Given the description of an element on the screen output the (x, y) to click on. 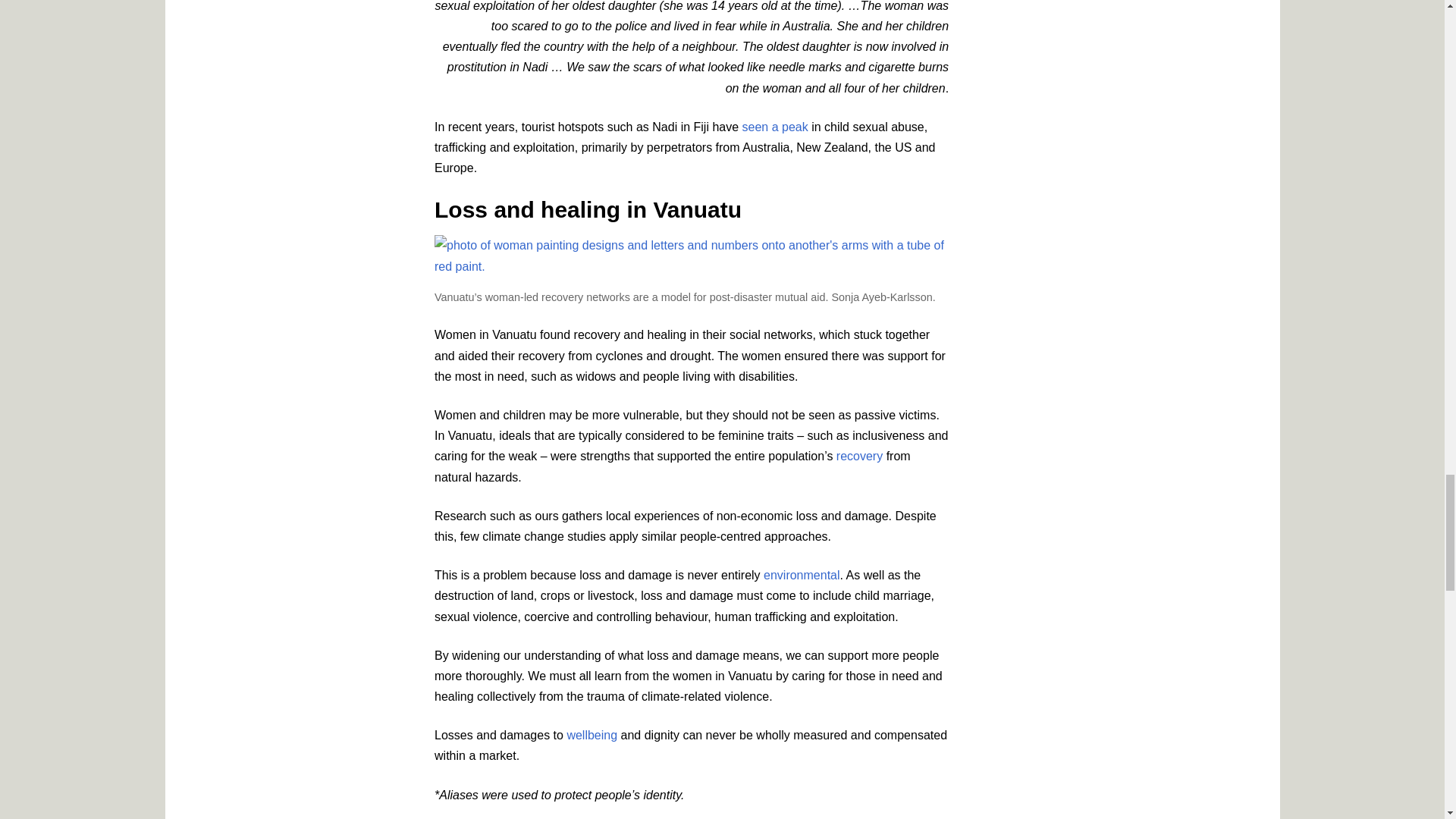
recovery (858, 455)
wellbeing (591, 735)
environmental (801, 574)
seen a peak (775, 126)
